Given the description of an element on the screen output the (x, y) to click on. 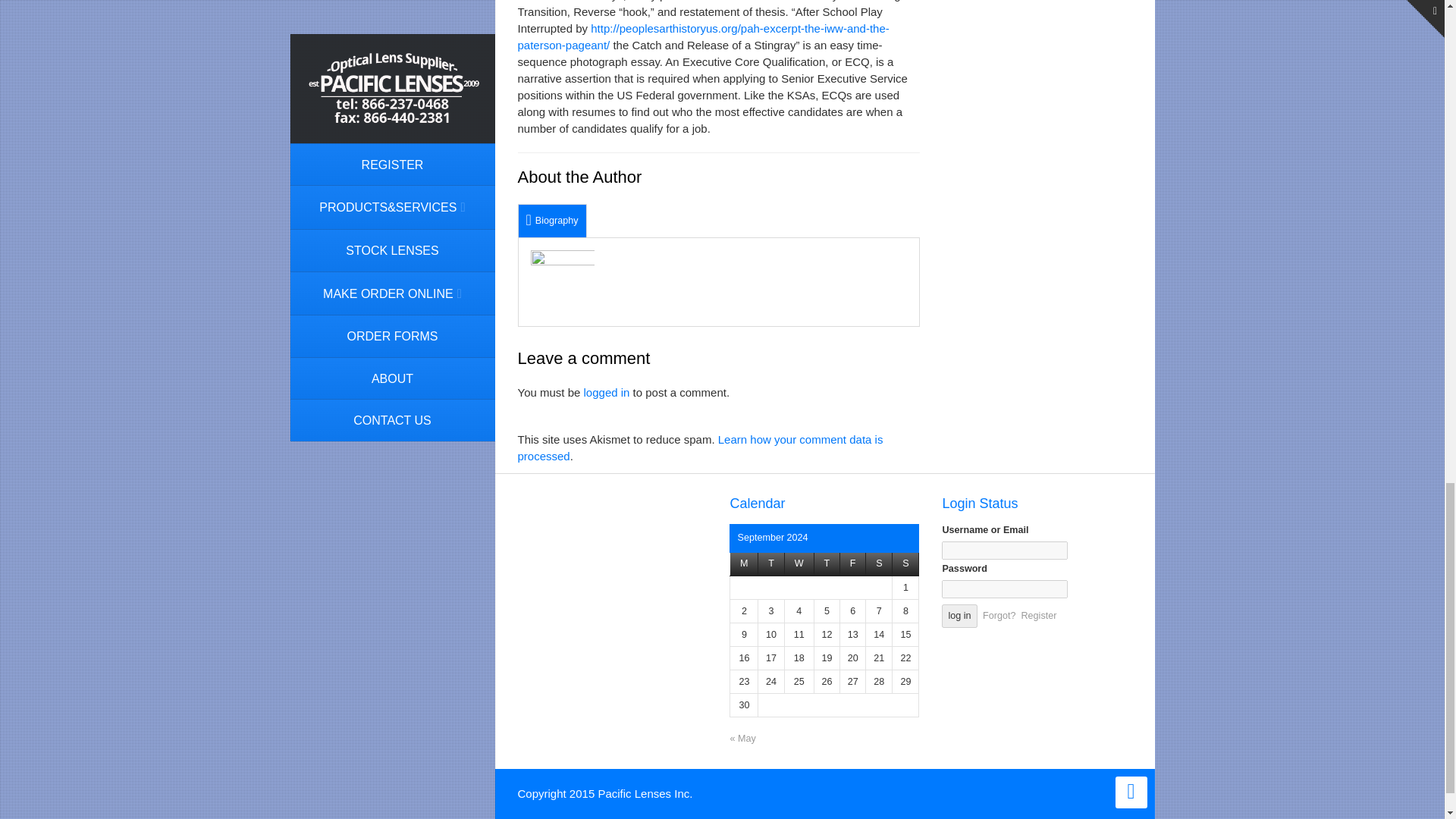
Saturday (879, 563)
log in (959, 616)
logged in (606, 391)
Sunday (905, 563)
Monday (744, 563)
Wednesday (798, 563)
Learn how your comment data is processed (699, 447)
Register (1038, 615)
log in (959, 616)
Thursday (826, 563)
